Given the description of an element on the screen output the (x, y) to click on. 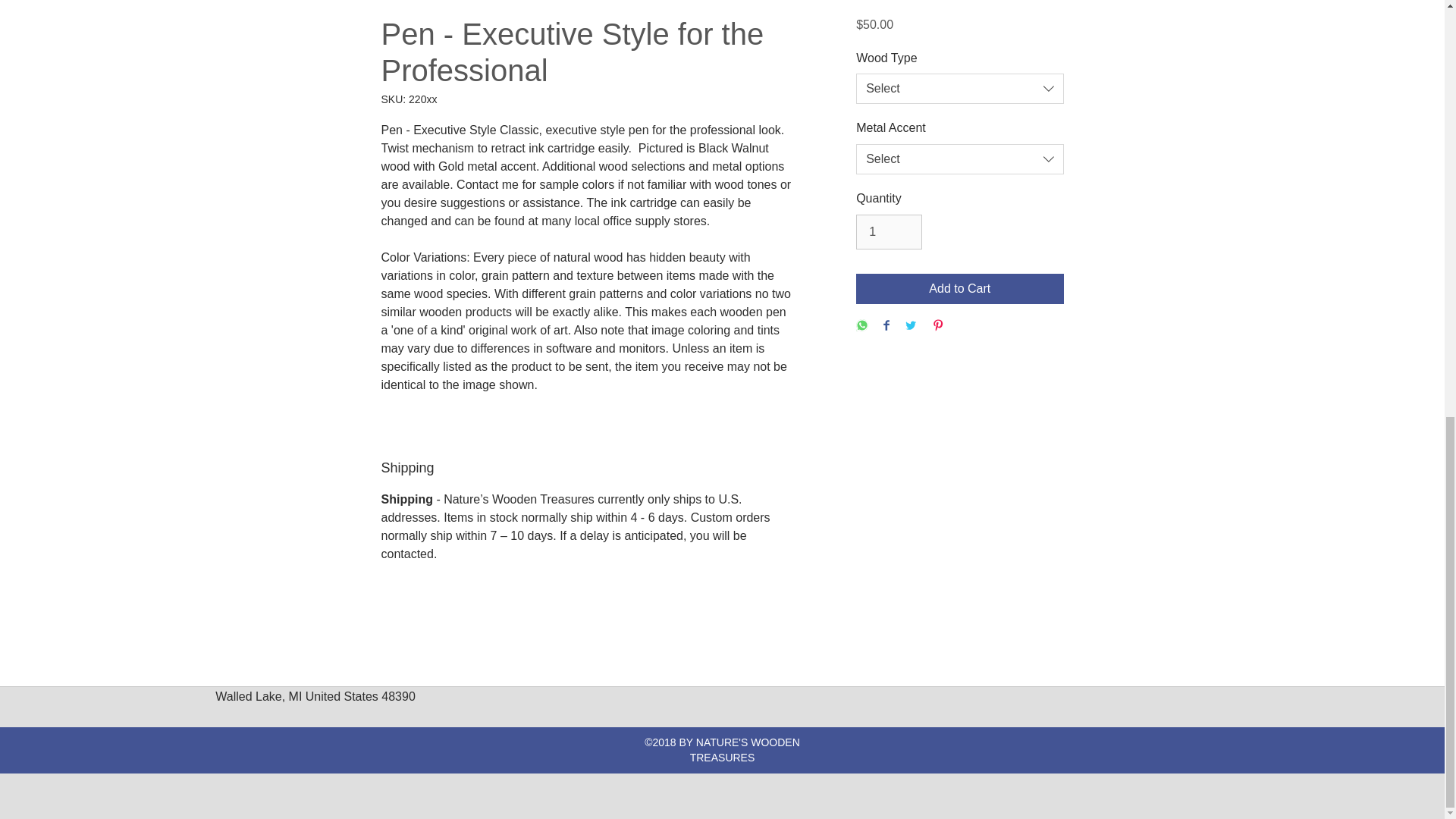
Select (959, 88)
Add to Cart (959, 288)
1 (888, 231)
Select (959, 159)
